Given the description of an element on the screen output the (x, y) to click on. 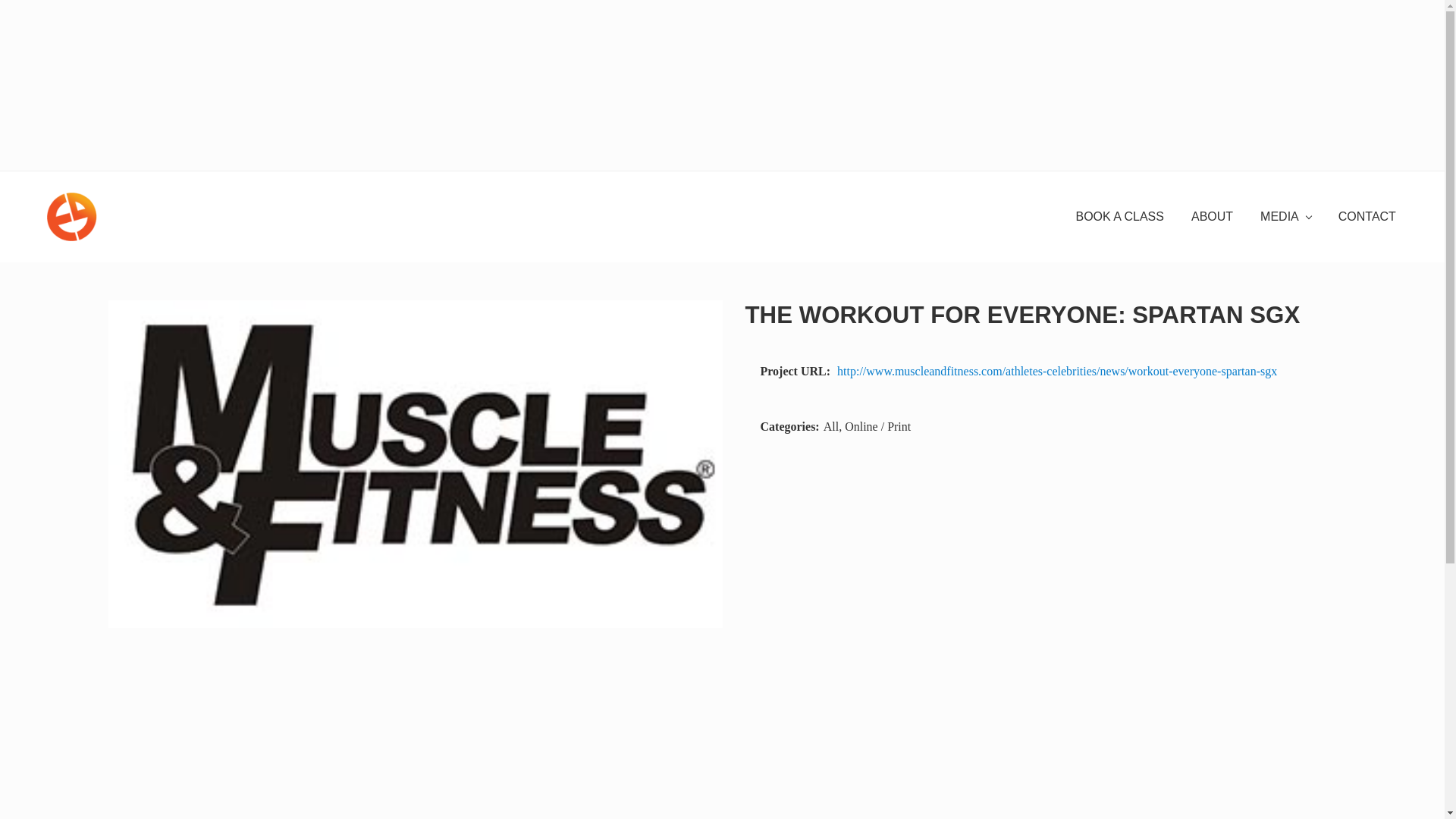
BOOK A CLASS (1119, 216)
CONTACT (1366, 216)
ABOUT (1211, 216)
MEDIA (1285, 216)
